Given the description of an element on the screen output the (x, y) to click on. 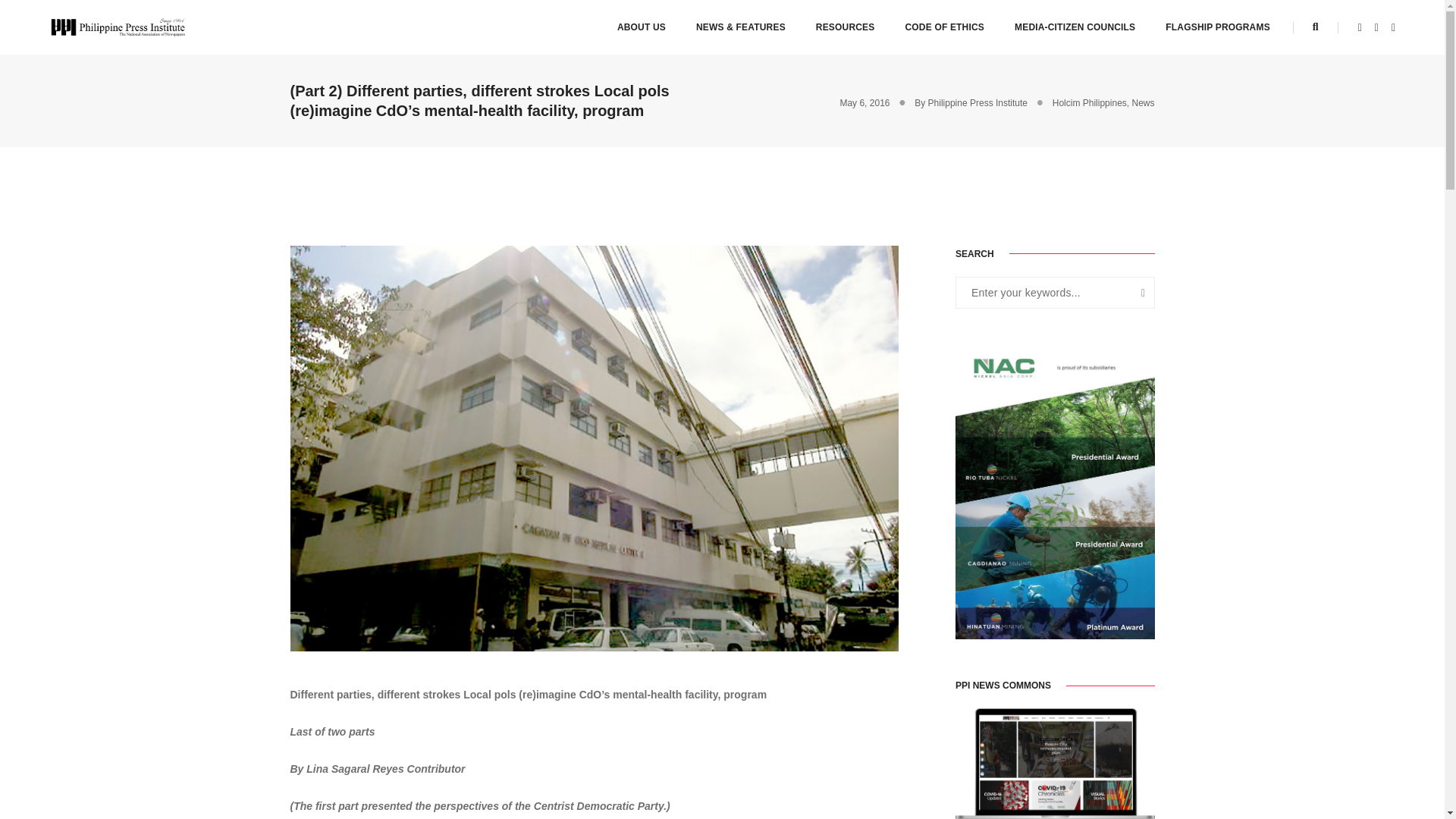
FLAGSHIP PROGRAMS (1217, 27)
Philippine Press Institute (117, 26)
CODE OF ETHICS (944, 27)
MEDIA-CITIZEN COUNCILS (1074, 27)
RESOURCES (845, 27)
